Given the description of an element on the screen output the (x, y) to click on. 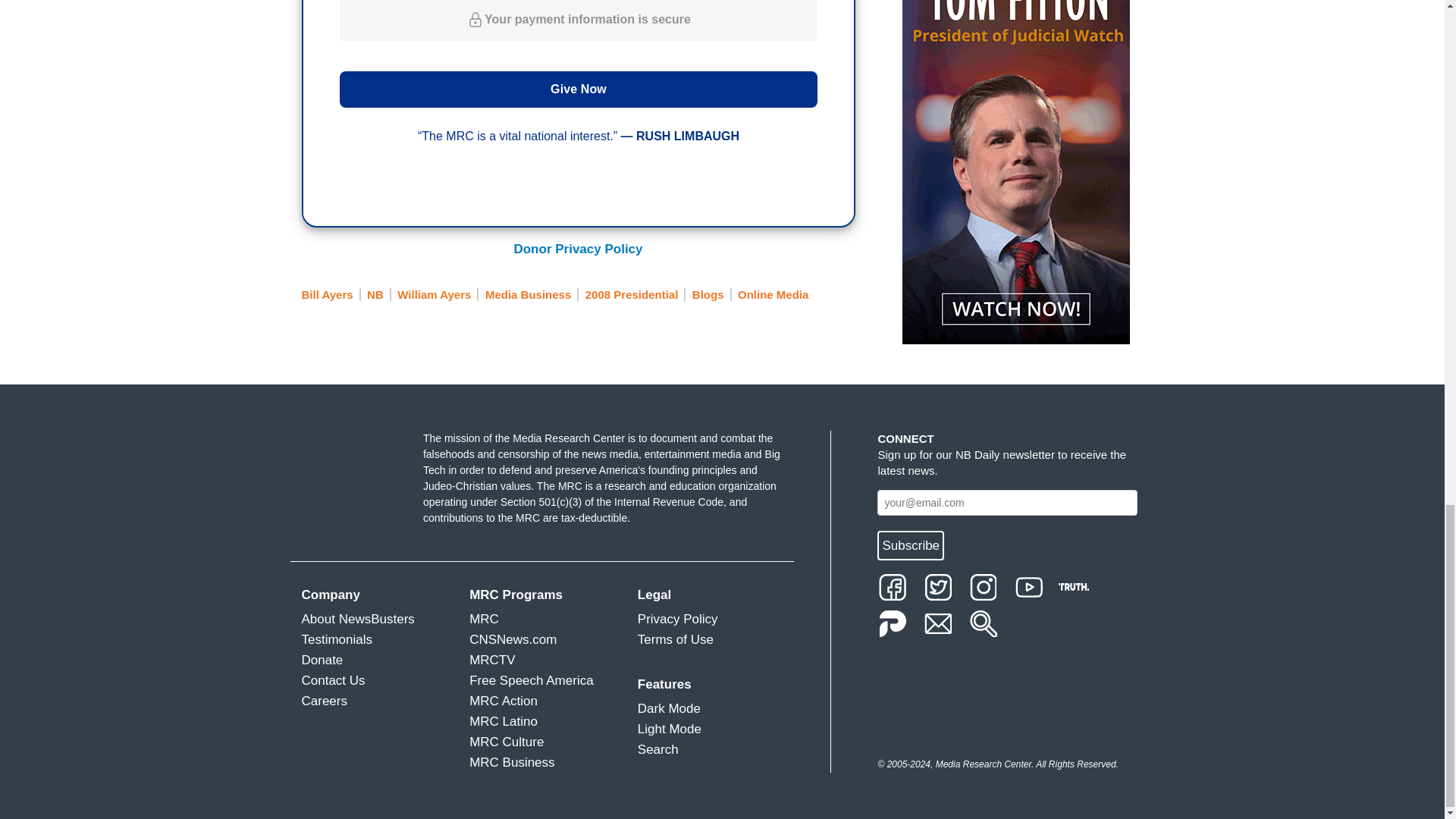
Giving Form (577, 110)
